Given the description of an element on the screen output the (x, y) to click on. 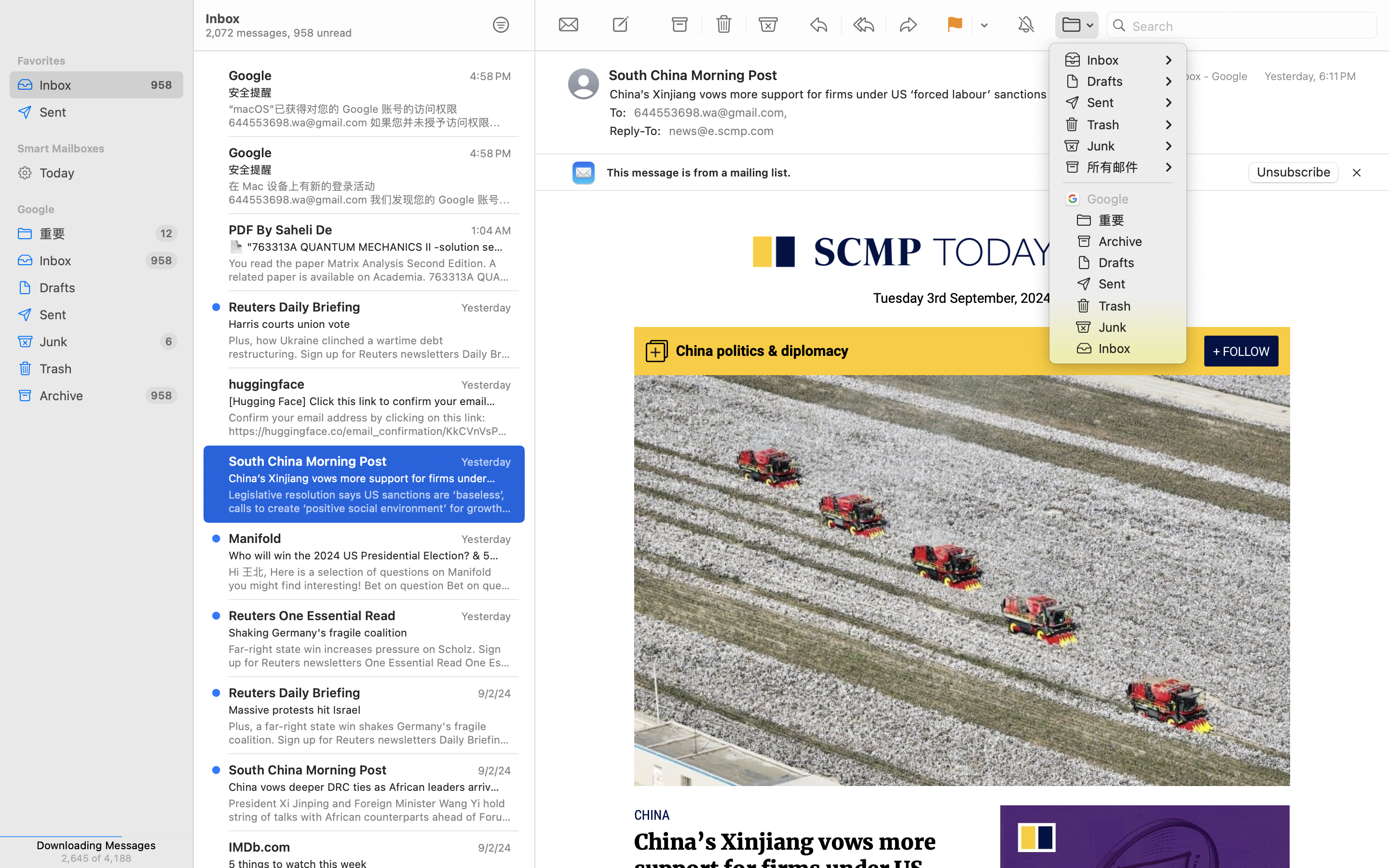
Reuters Daily Briefing Element type: AXStaticText (294, 306)
Sent Element type: AXStaticText (107, 111)
Tuesday 3rd September, 2024 Element type: AXStaticText (961, 298)
Yesterday, 6:11 PM Element type: AXStaticText (1310, 75)
在 Mac 设备上有新的登录活动 644553698.wa@gmail.com 我们发现您的 Google 账号在一部 Mac 设备上有新的登录活动。如果这是您本人的操作，那么您无需采取任何行动。如果这不是您本人的操作，我们会帮助您保护您的账号。 查看活动 您也可以访问以下网址查看安全性活动： https://myaccount.google.com/notifications 我们向您发送这封电子邮件，目的是让您了解关于您的 Google 账号和服务的重大变化。 © 2024 Google LLC, 1600 Amphitheatre Parkway, Mountain View, CA 94043, USA Element type: AXStaticText (369, 192)
